Given the description of an element on the screen output the (x, y) to click on. 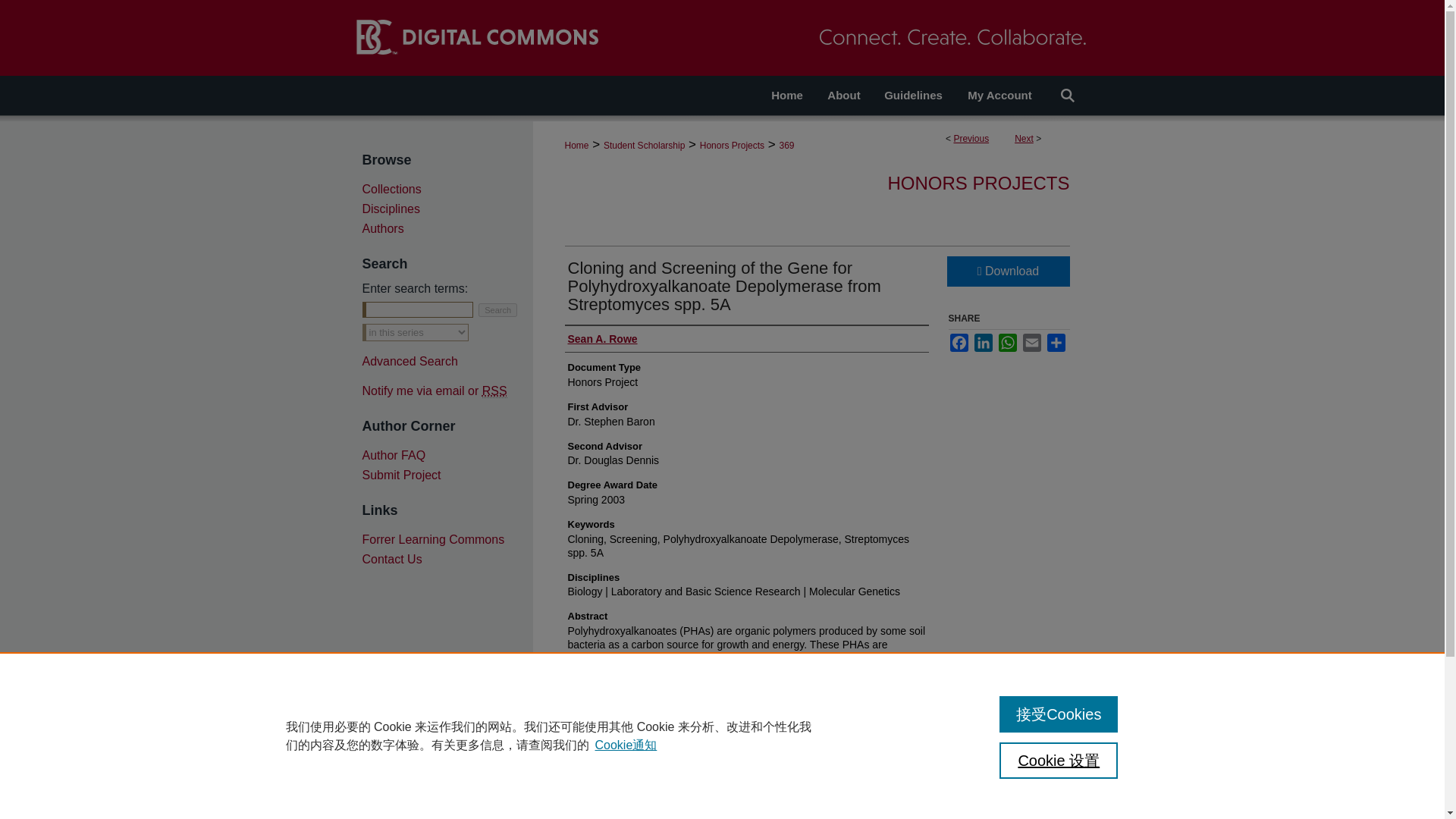
Advanced Search (410, 360)
Search (497, 309)
Submit Project (447, 475)
Authors (447, 228)
About (843, 95)
Disciplines (447, 209)
Sean A. Rowe (602, 338)
Collections (447, 189)
Guidelines (912, 95)
Search (497, 309)
HONORS PROJECTS (977, 182)
Guidelines (912, 95)
Honors Projects (732, 145)
Forrer Learning Commons (447, 540)
